Given the description of an element on the screen output the (x, y) to click on. 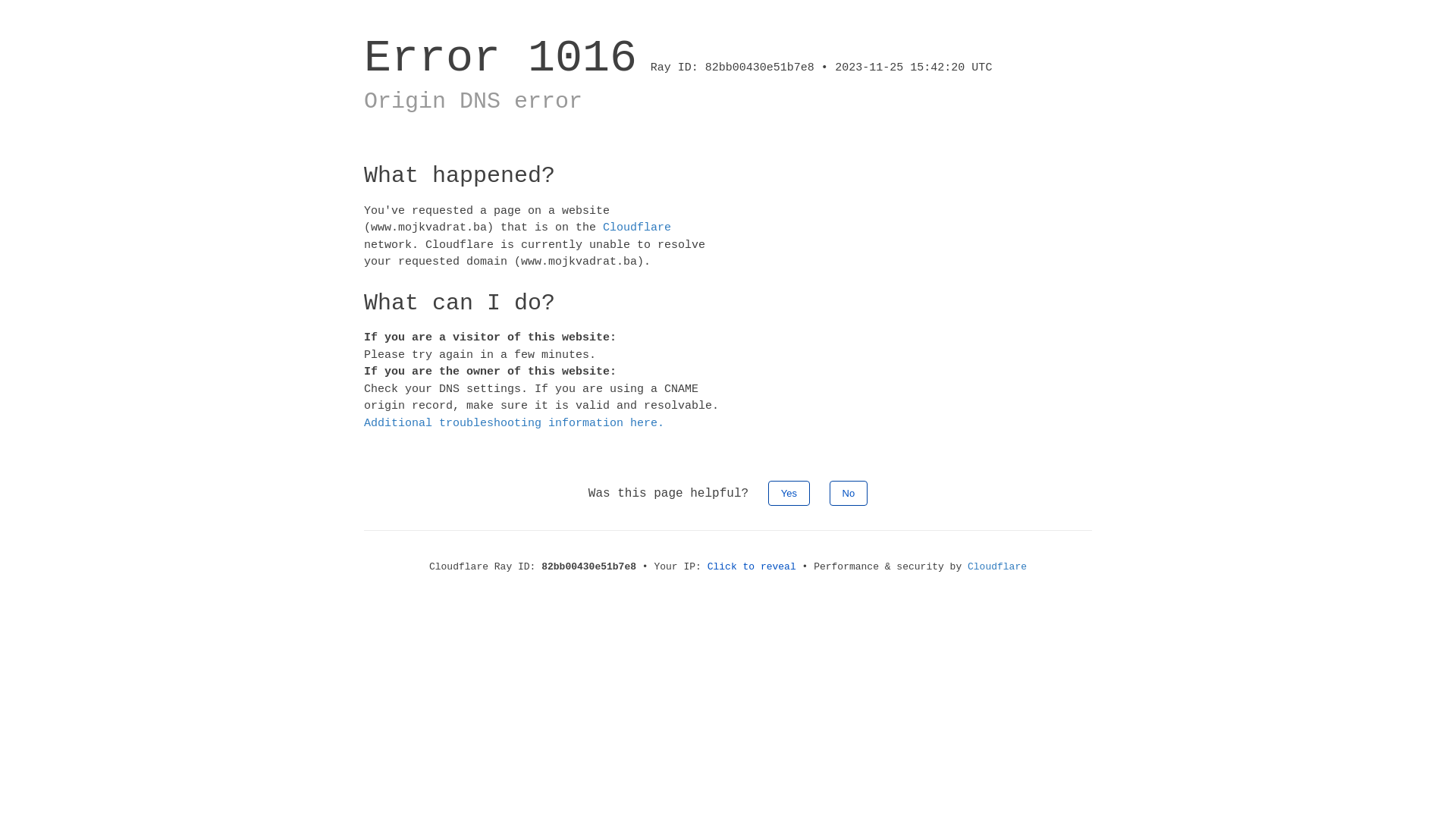
Yes Element type: text (788, 492)
Additional troubleshooting information here. Element type: text (514, 423)
Click to reveal Element type: text (751, 566)
No Element type: text (848, 492)
Cloudflare Element type: text (996, 566)
Cloudflare Element type: text (636, 227)
